Given the description of an element on the screen output the (x, y) to click on. 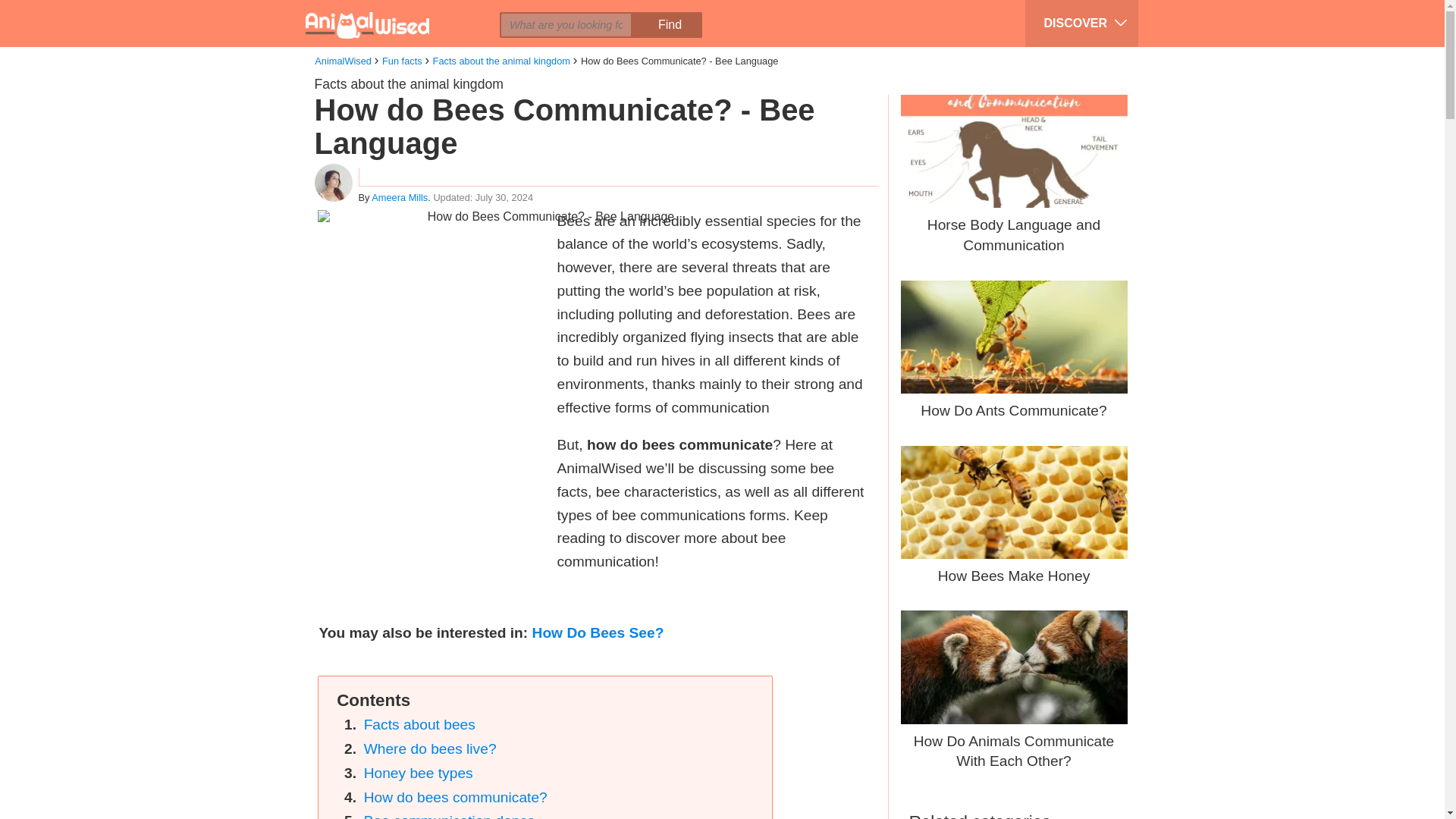
Facts about the animal kingdom (408, 83)
Honey bee types (418, 772)
pinterest (427, 12)
AnimalWised (342, 60)
whatsapp (456, 12)
facebook (370, 12)
Facts about bees (420, 724)
How Do Bees See? (597, 632)
Where do bees live? (430, 748)
How do bees communicate? (455, 796)
